Given the description of an element on the screen output the (x, y) to click on. 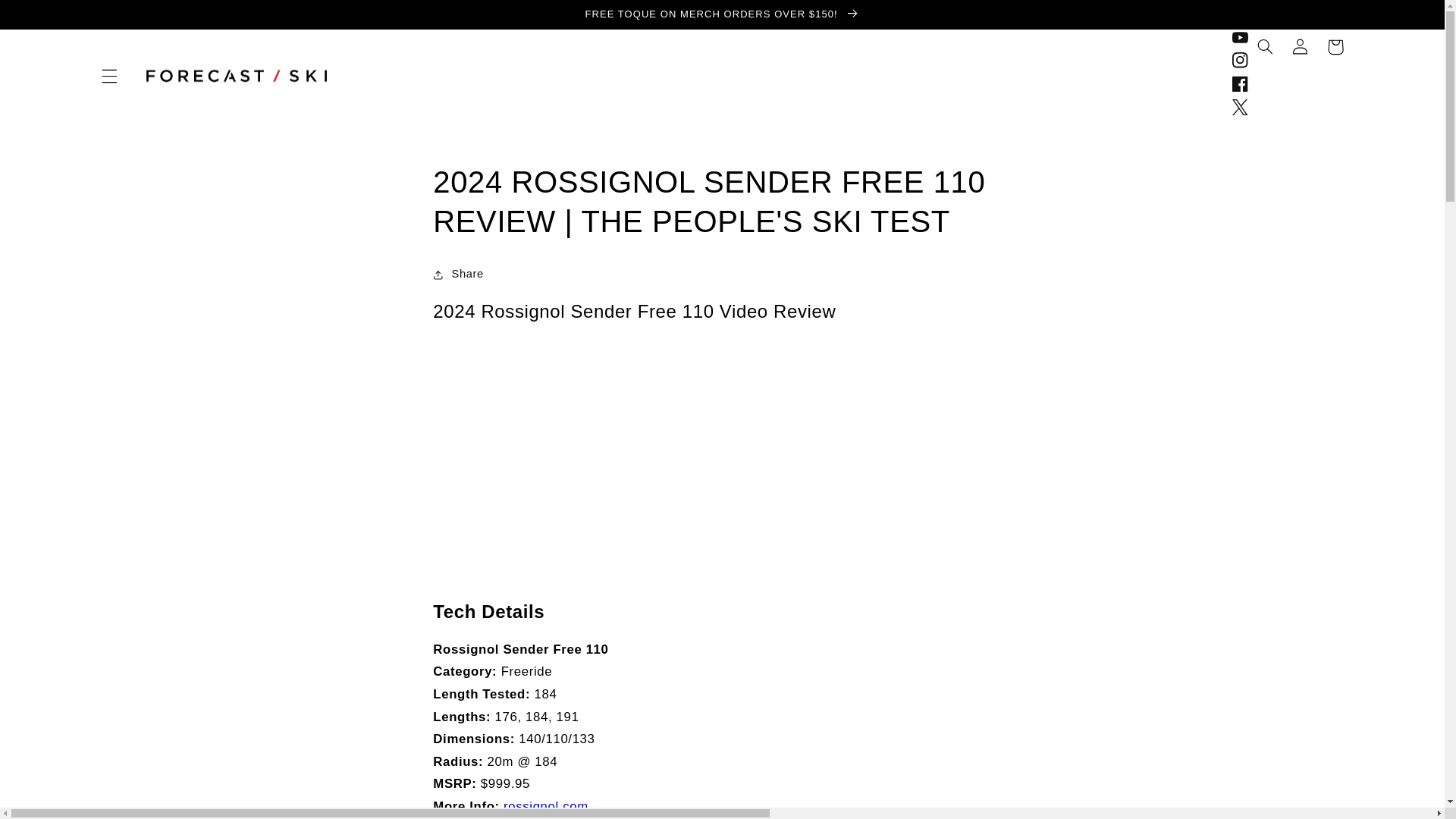
Log in (1299, 46)
Skip to content (48, 18)
rossignol.com (545, 806)
YouTube video player (644, 457)
Cart (1334, 46)
